Given the description of an element on the screen output the (x, y) to click on. 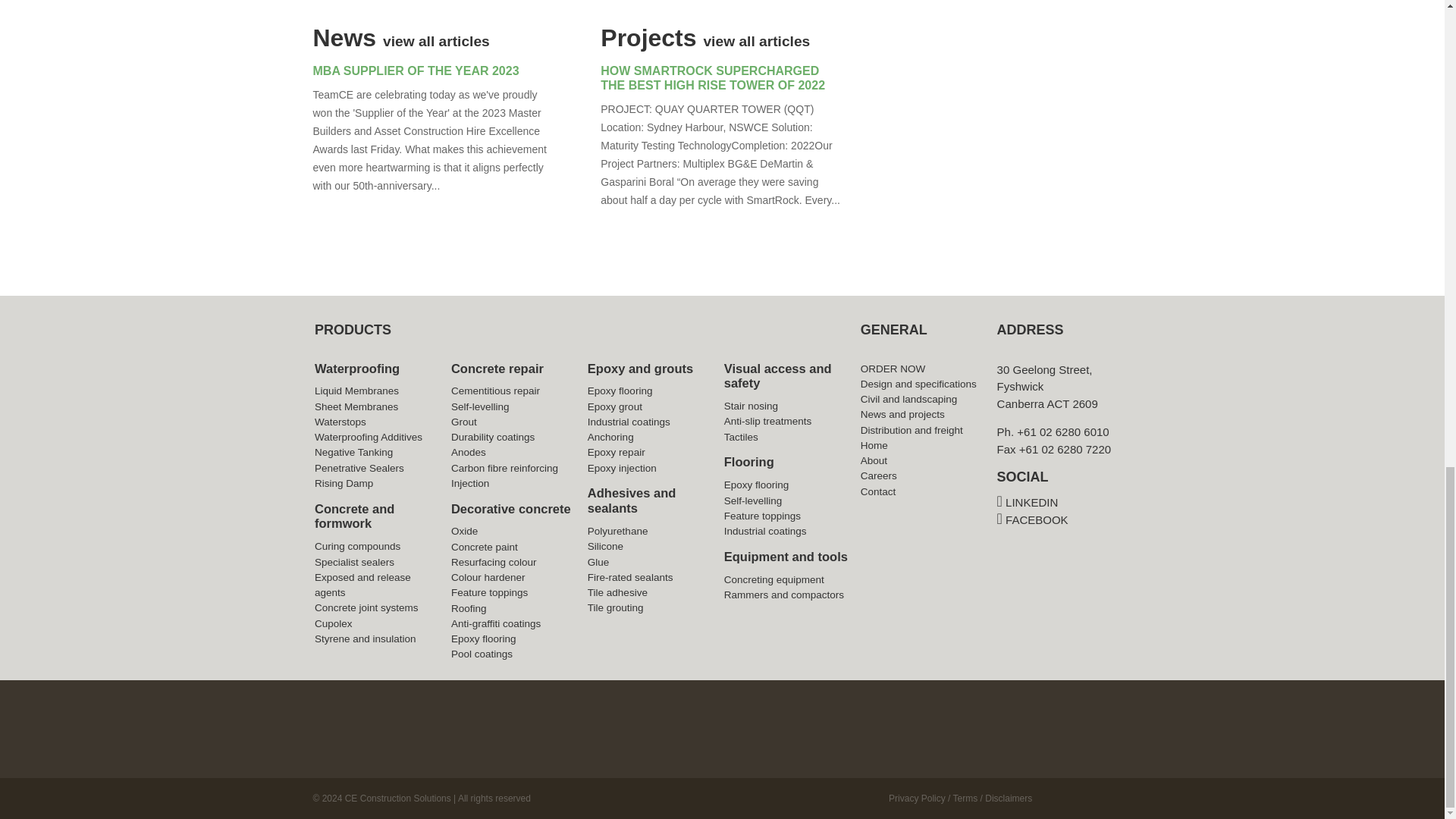
Curing compounds (357, 546)
Negative Tanking (353, 451)
Sheet Membranes (355, 406)
Supply Nation Logo (380, 717)
Concrete Institute Logo (1063, 724)
Waterproofing Additives (368, 437)
Specialist sealers (354, 562)
Penetrative Sealers (359, 468)
Master Builders Logo (790, 724)
Rising Damp (343, 482)
